Given the description of an element on the screen output the (x, y) to click on. 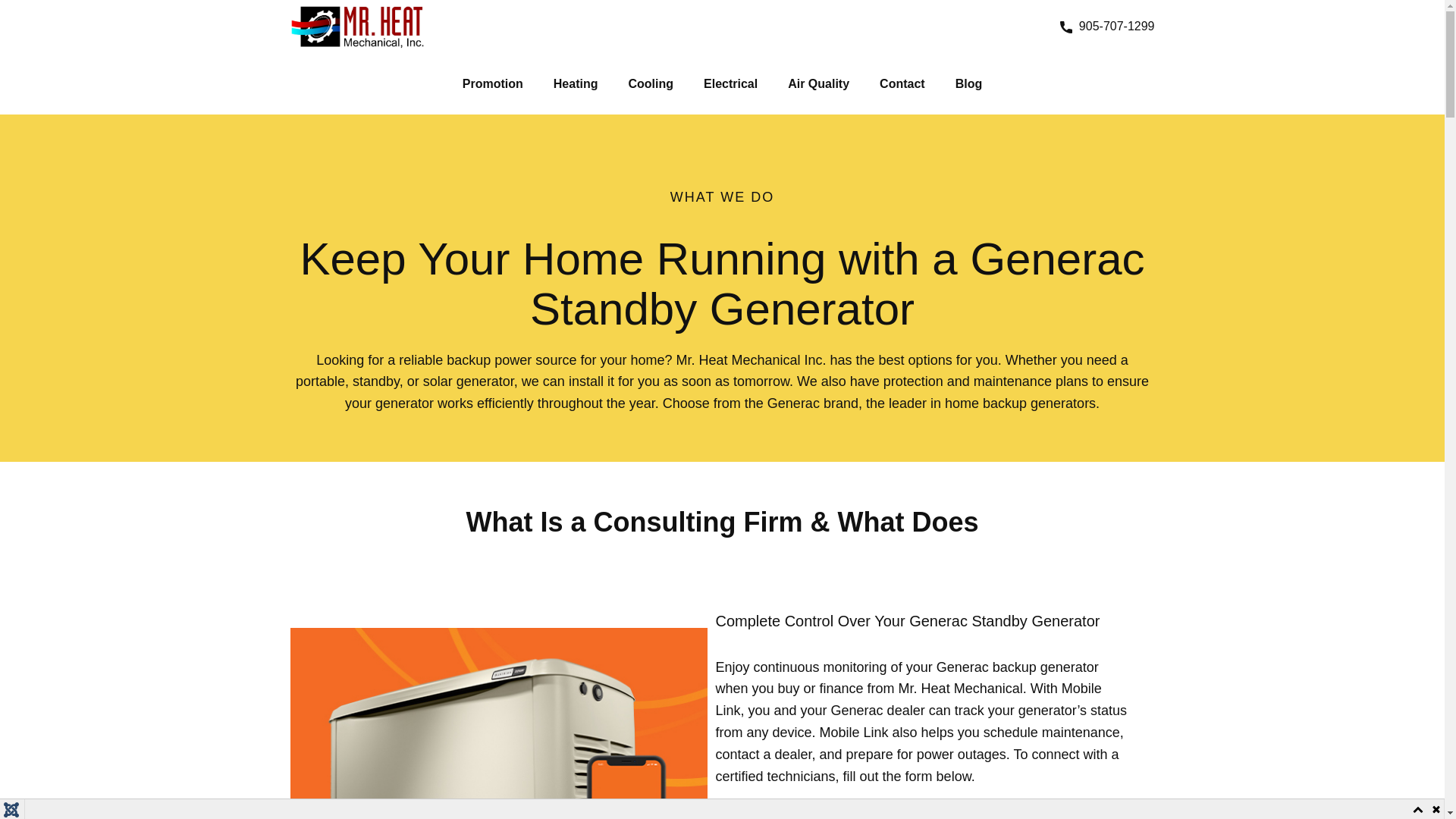
Electrical (730, 83)
Cooling (650, 83)
Heating Cooling Electrical Contractor  (356, 26)
  905-707-1299 (1106, 26)
Contact (902, 83)
Air Quality (818, 83)
Blog (968, 83)
Promotion (492, 83)
Heating (575, 83)
